Given the description of an element on the screen output the (x, y) to click on. 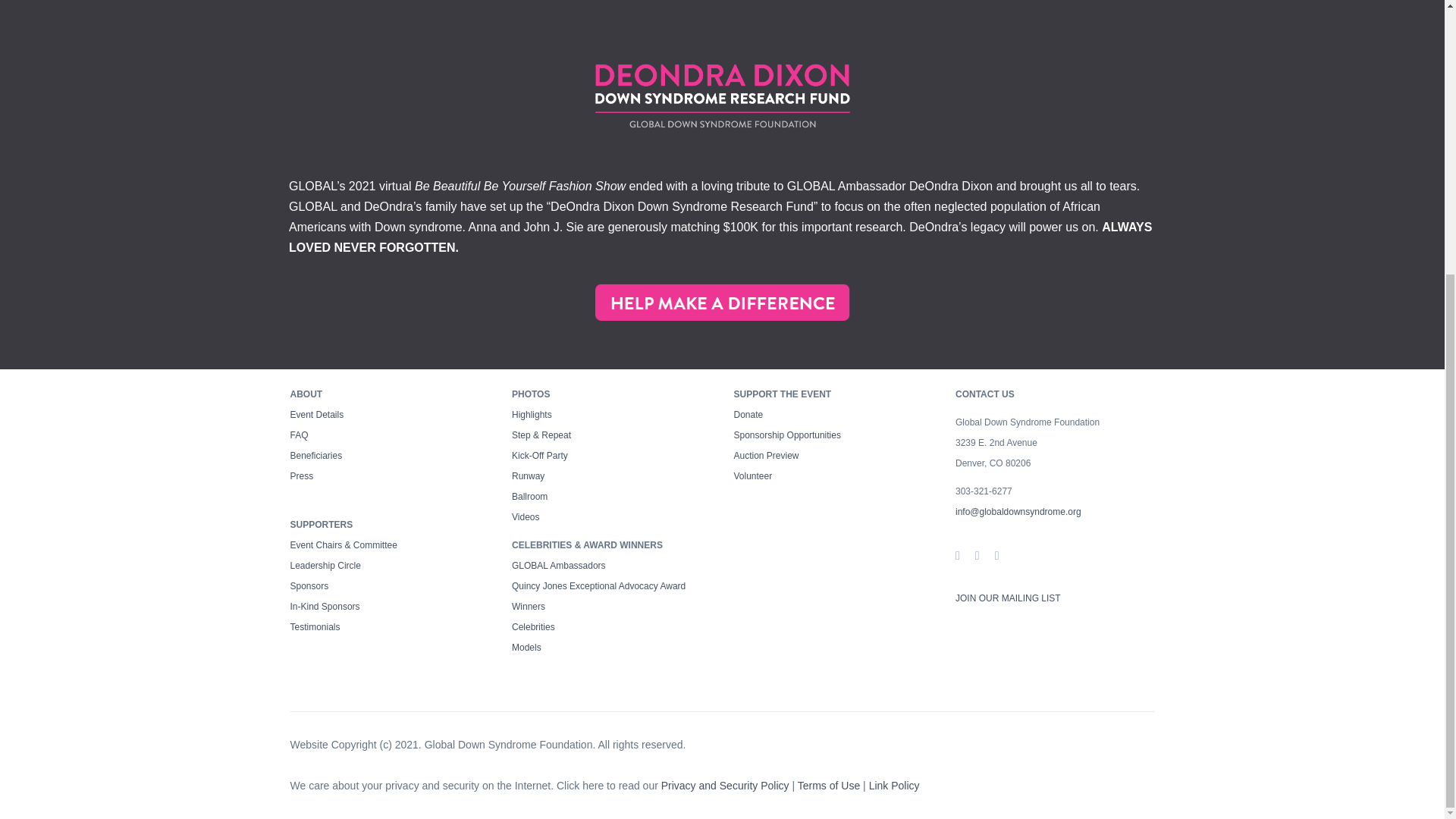
Event Details (316, 414)
YouTube video player (721, 15)
FAQ (298, 434)
